Given the description of an element on the screen output the (x, y) to click on. 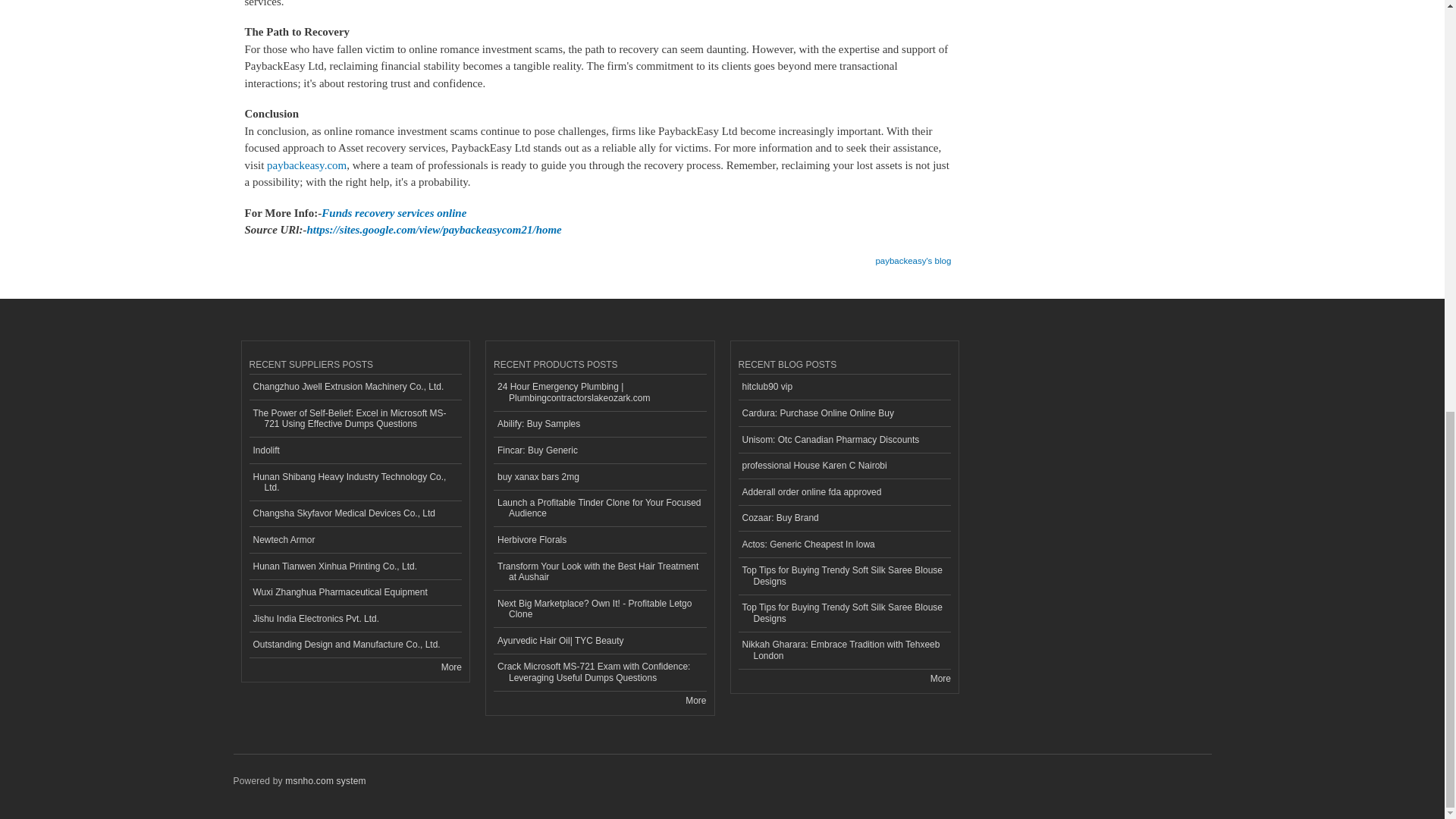
Changzhuo Jwell Extrusion Machinery Co., Ltd. (354, 387)
paybackeasy's blog (912, 255)
Newtech Armor (354, 540)
More (451, 666)
Fincar: Buy Generic (599, 450)
Wuxi Zhanghua Pharmaceutical Equipment (354, 592)
Hunan Tianwen Xinhua Printing Co., Ltd. (354, 566)
Funds recovery services online (393, 213)
Jishu India Electronics Pvt. Ltd. (354, 619)
Indolift (354, 450)
paybackeasy.com (306, 164)
Changsha Skyfavor Medical Devices Co., Ltd (354, 514)
Hunan Shibang Heavy Industry Technology Co., Ltd. (354, 482)
Read paybackeasy's latest blog entries. (912, 255)
